Given the description of an element on the screen output the (x, y) to click on. 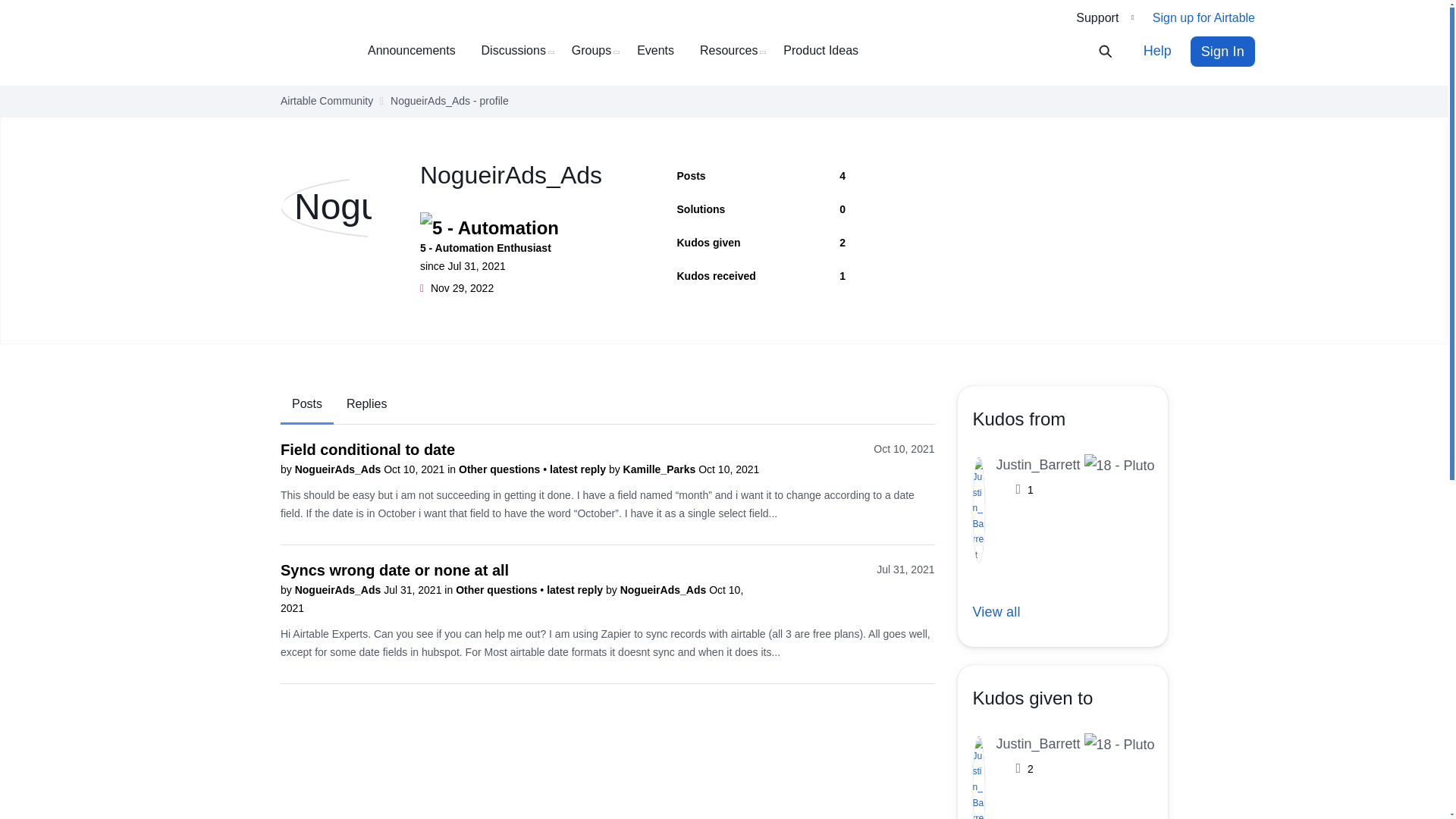
View profile (339, 589)
Replies (365, 404)
Field conditional to date (367, 449)
View post (576, 589)
Sign up for Airtable (1204, 17)
View post (579, 469)
Posts (307, 404)
Airtable Community (269, 51)
5 - Automation Enthusiast (520, 223)
Events (661, 50)
